Given the description of an element on the screen output the (x, y) to click on. 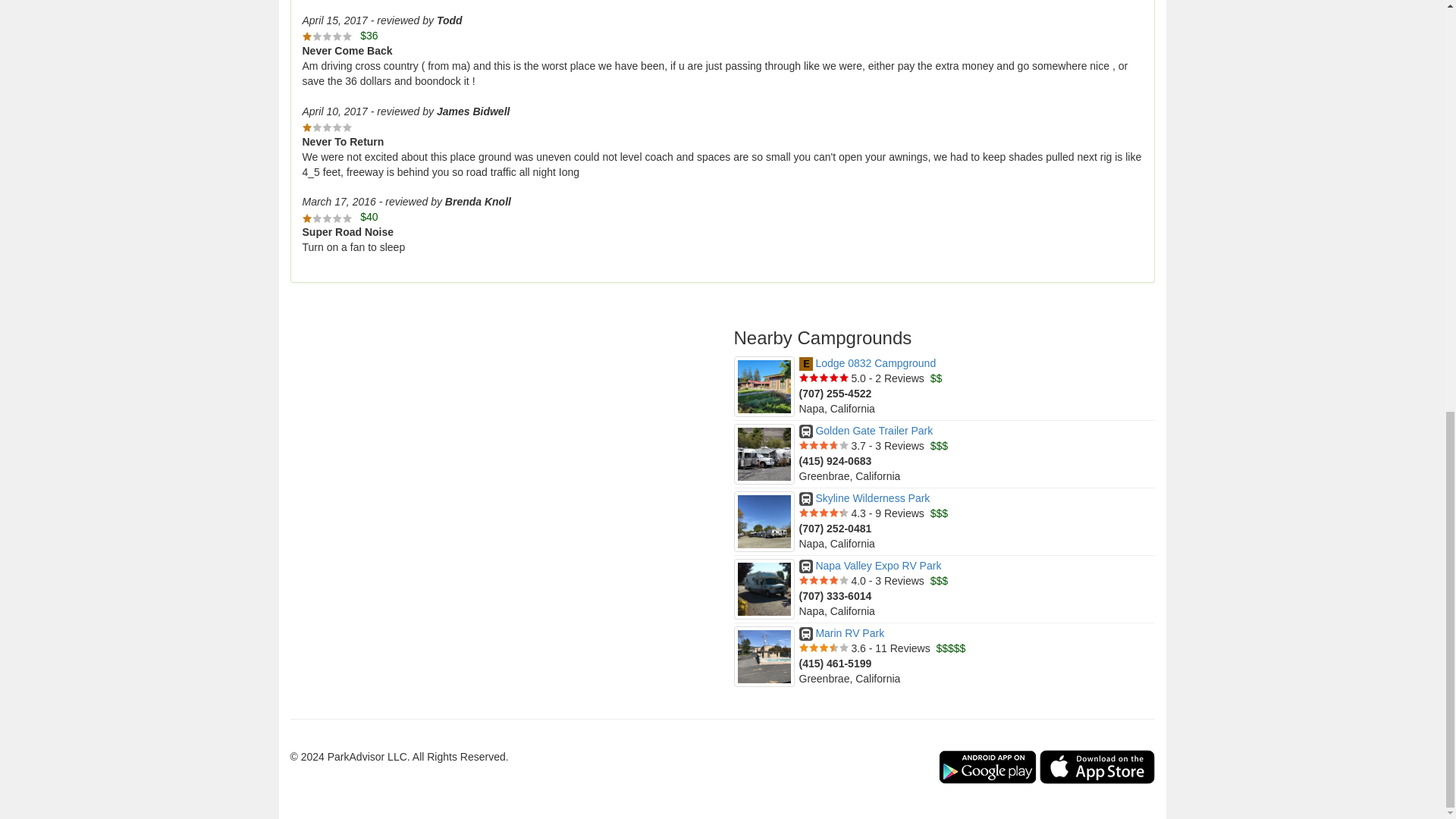
 Marin RV Park (842, 633)
 Lodge 0832 Campground (867, 363)
 Napa Valley Expo RV Park (870, 565)
 Golden Gate Trailer Park (866, 430)
 Skyline Wilderness Park (864, 498)
